Given the description of an element on the screen output the (x, y) to click on. 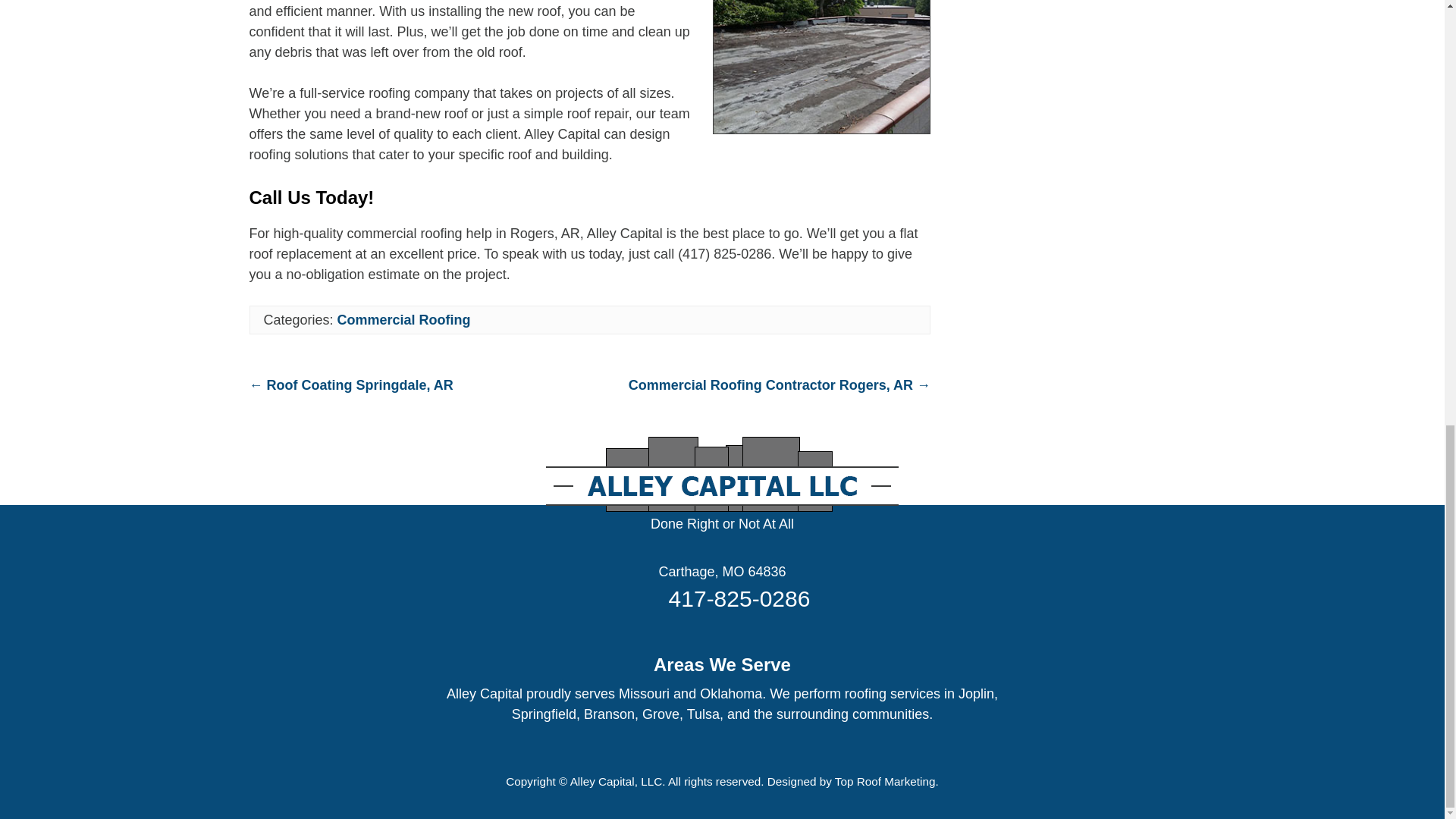
Alley Capital LLC (722, 571)
Alley Capital LLC (722, 524)
